Given the description of an element on the screen output the (x, y) to click on. 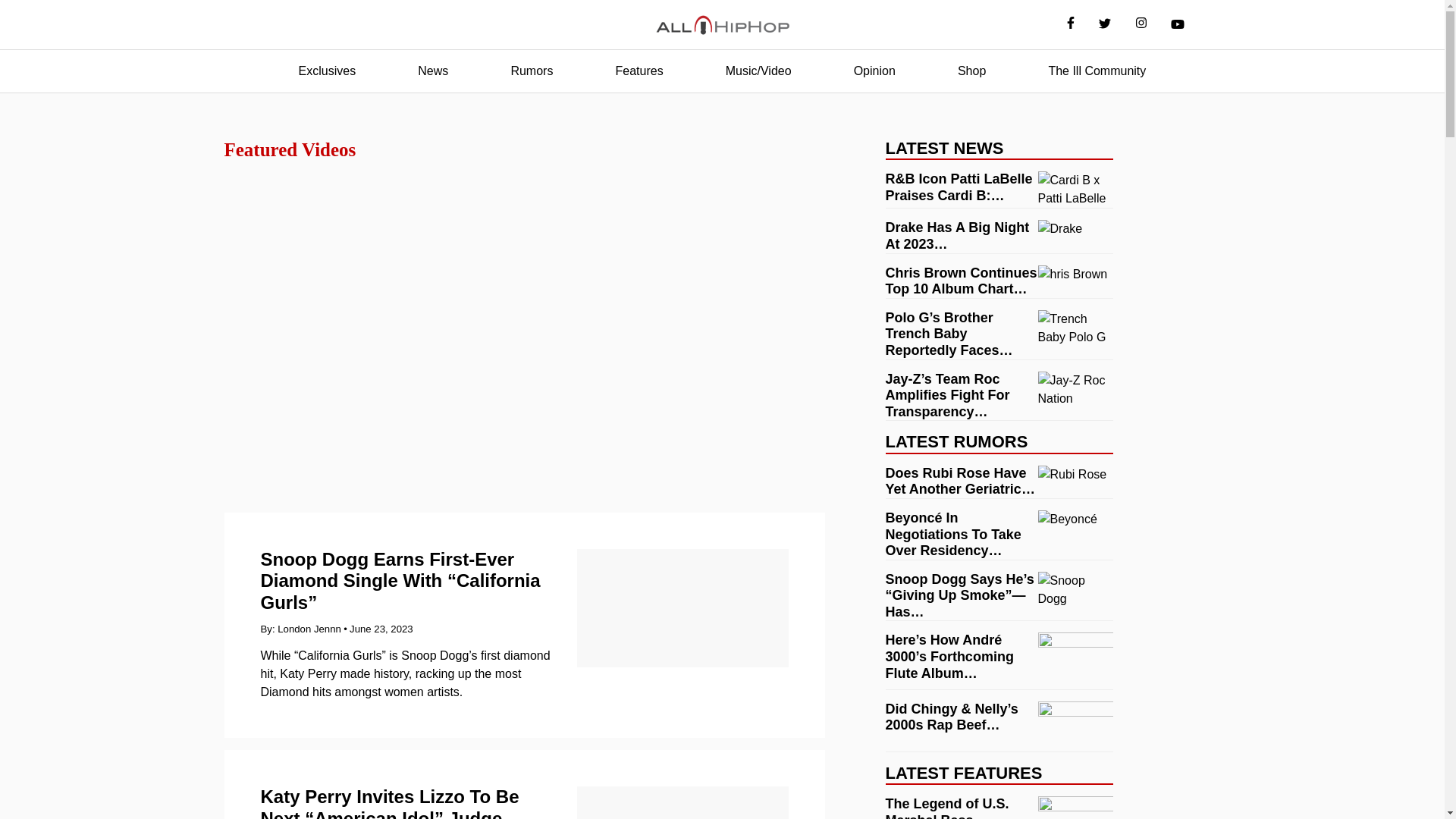
Rumors (530, 70)
Features (638, 70)
Exclusives (327, 70)
AllHipHop (722, 25)
News (433, 70)
Shop (970, 70)
Opinion (874, 70)
June 23, 2023 (381, 628)
London Jennn (309, 628)
The Ill Community (1096, 70)
